Given the description of an element on the screen output the (x, y) to click on. 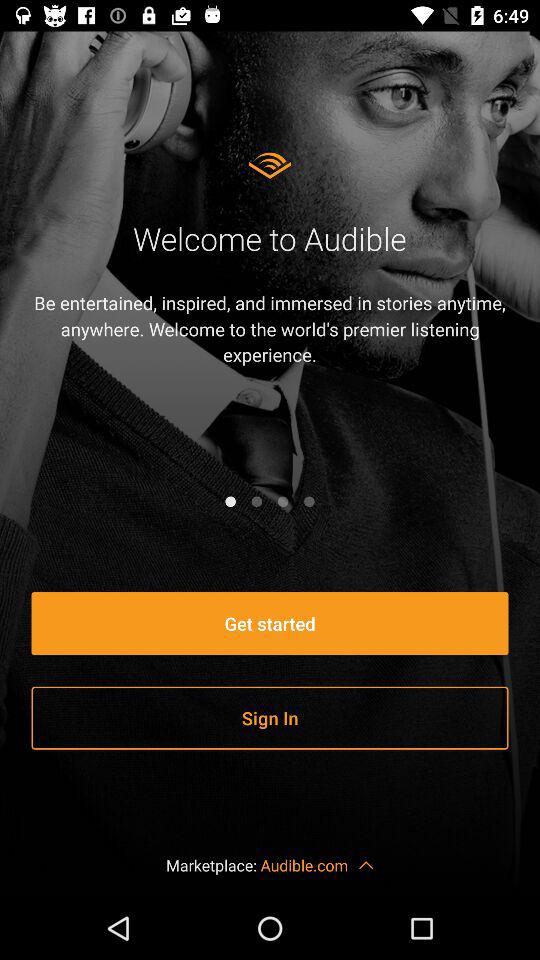
flip to the get started item (269, 623)
